Given the description of an element on the screen output the (x, y) to click on. 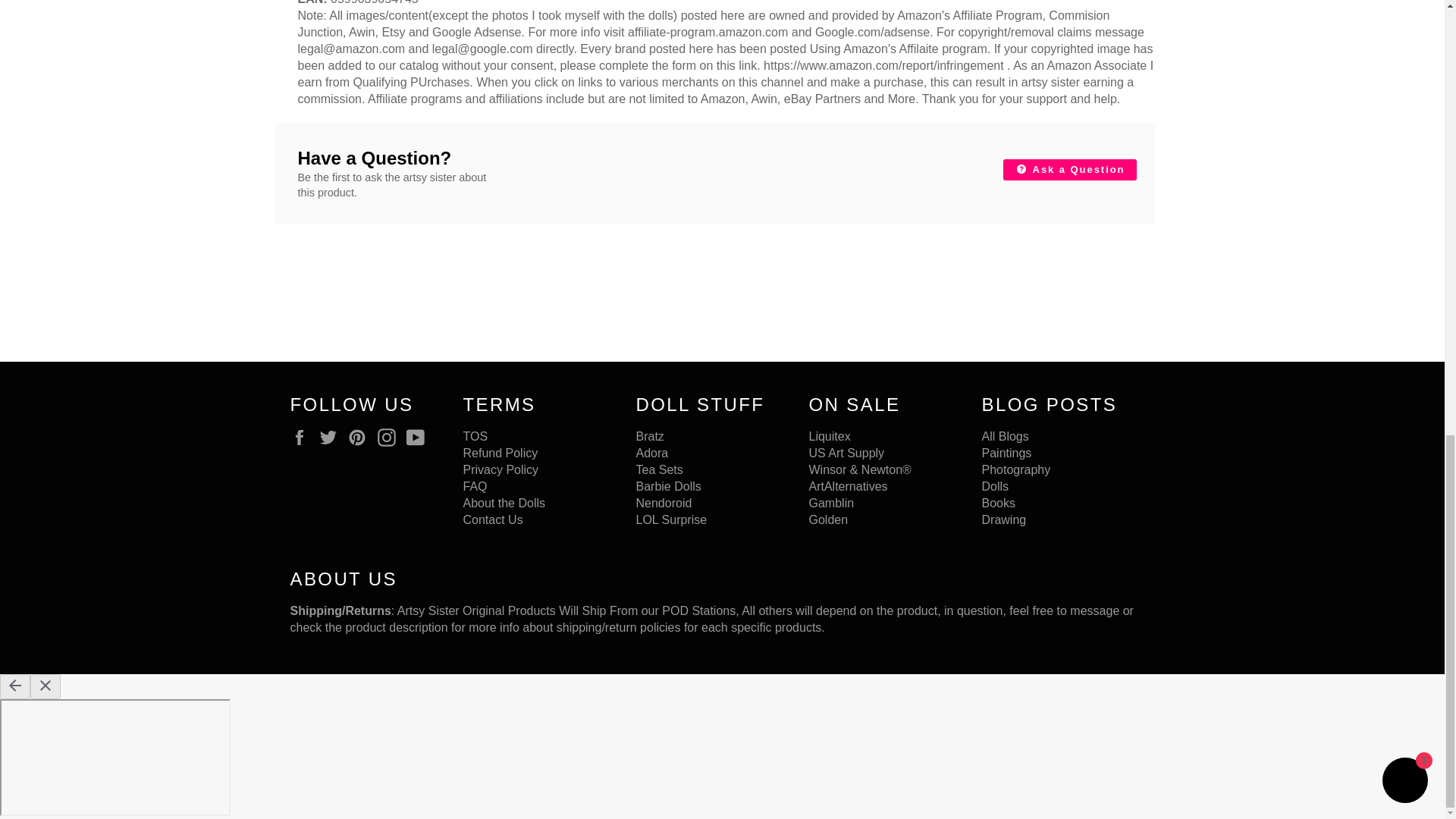
Artsy Sister - Art Supplies on Facebook (302, 437)
Artsy Sister - Art Supplies on Twitter (331, 437)
